Given the description of an element on the screen output the (x, y) to click on. 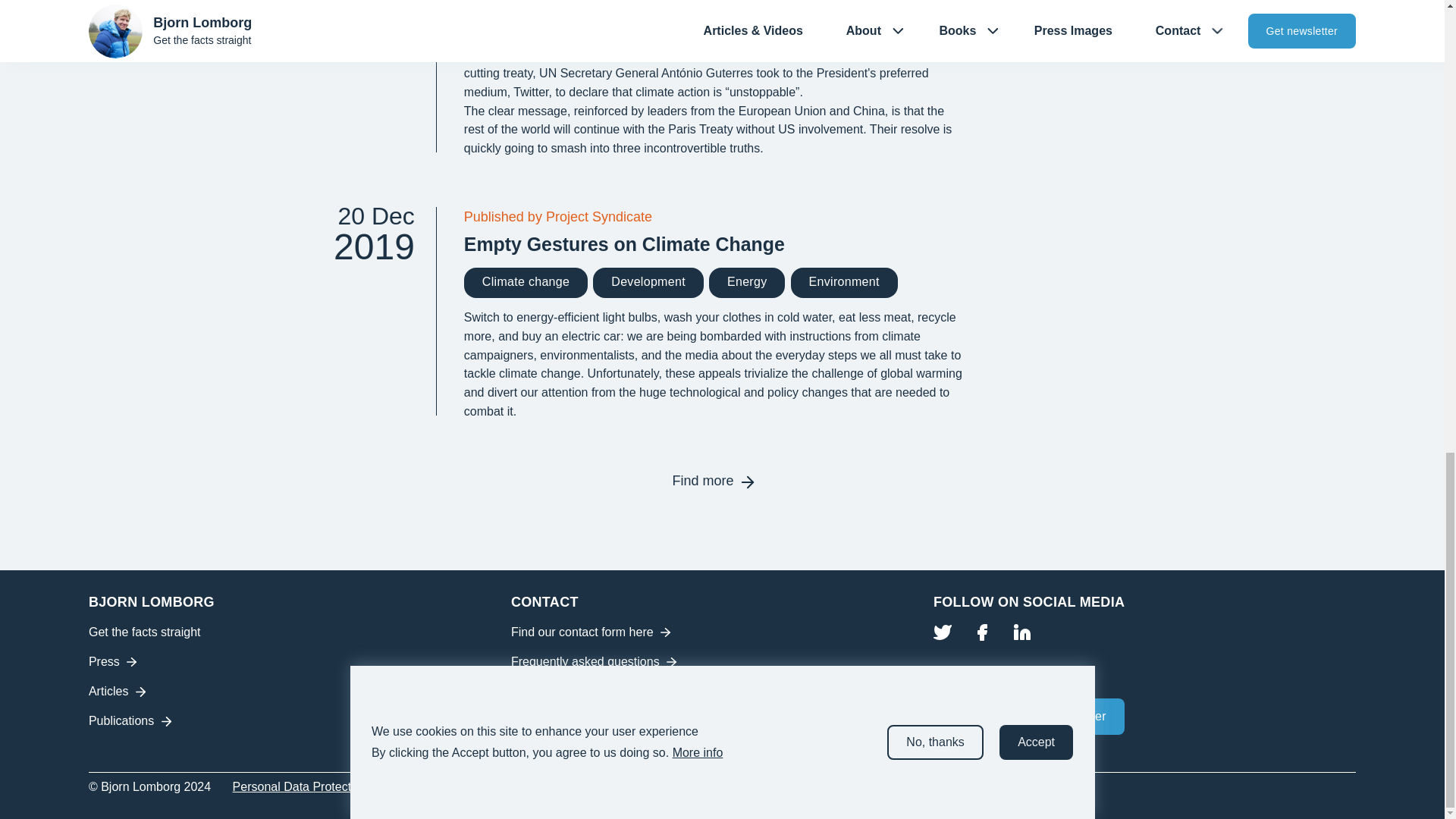
Development (362, 76)
Climate change (647, 19)
Energy (526, 19)
